Given the description of an element on the screen output the (x, y) to click on. 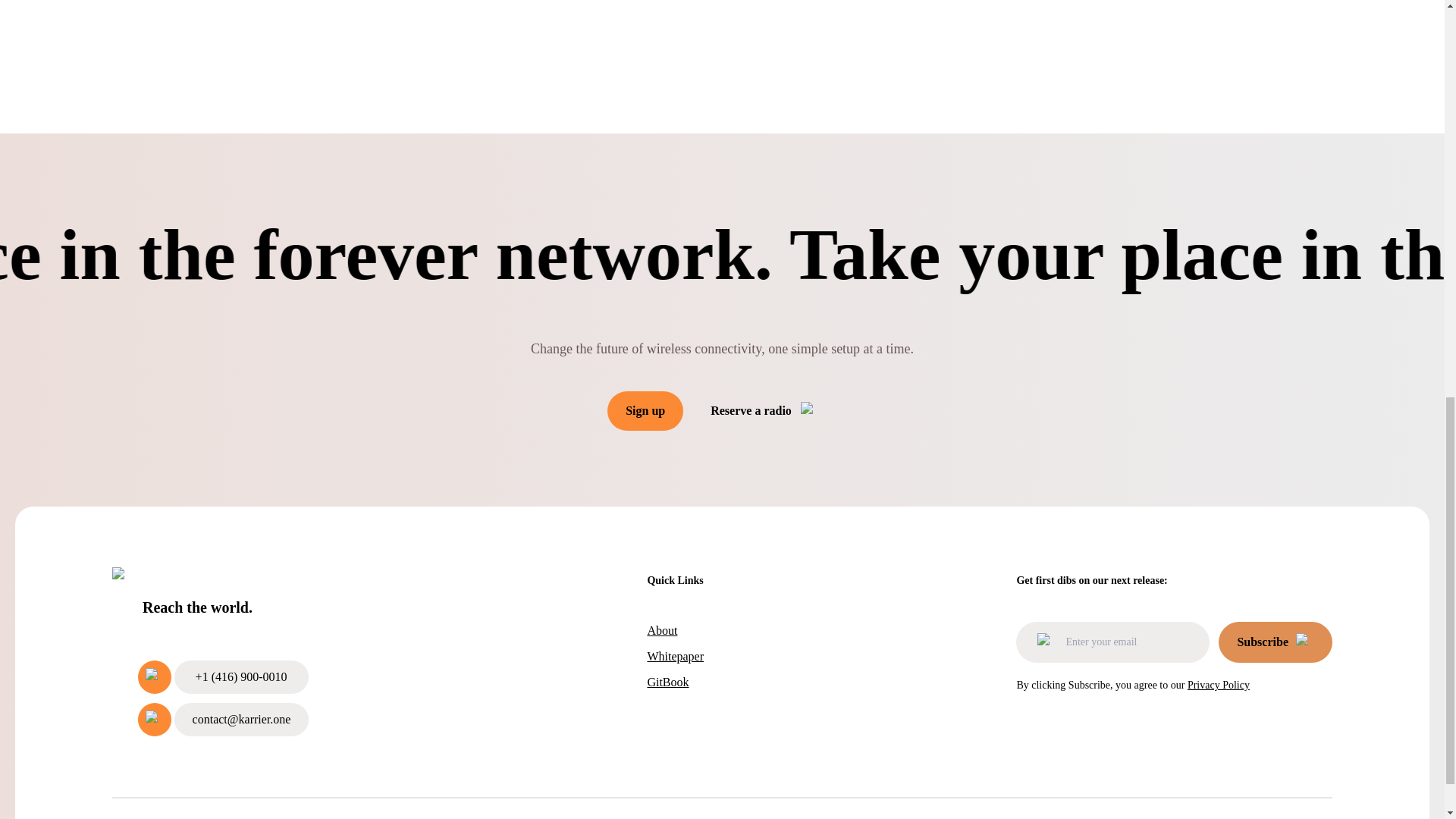
Whitepaper (674, 656)
GitBook (674, 682)
About (674, 630)
Privacy Policy (1300, 818)
Privacy Policy (1218, 685)
Reserve a radio (765, 411)
Sign up (644, 410)
Karrier One (223, 581)
Subscribe (1275, 641)
